Given the description of an element on the screen output the (x, y) to click on. 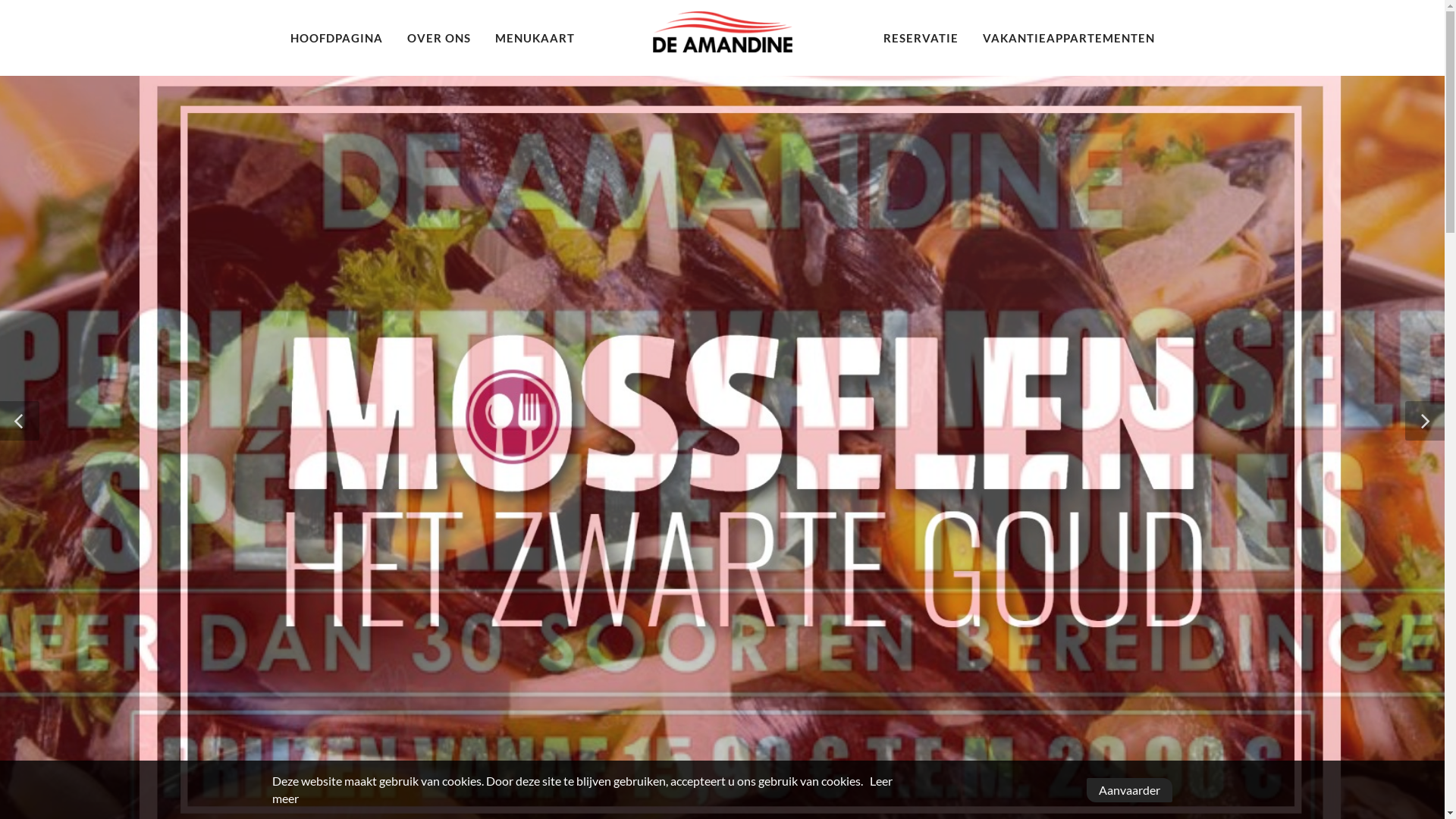
Aanvaarder Element type: text (1129, 790)
HOOFDPAGINA Element type: text (336, 37)
Leer meer Element type: text (582, 788)
RESERVATIE Element type: text (920, 37)
VAKANTIEAPPARTEMENTEN Element type: text (1067, 37)
OVER ONS Element type: text (438, 37)
MENUKAART Element type: text (534, 37)
